Given the description of an element on the screen output the (x, y) to click on. 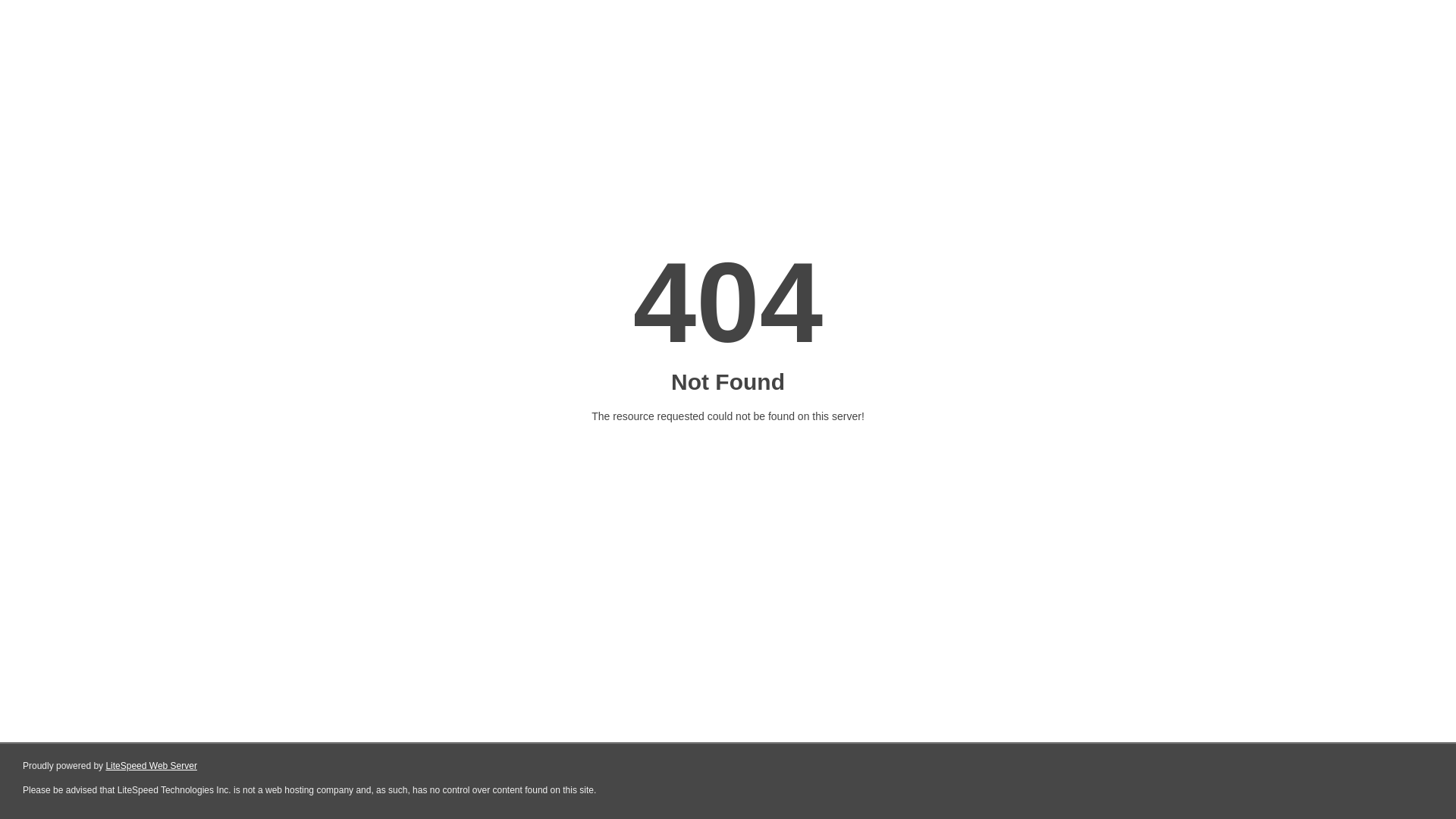
LiteSpeed Web Server Element type: text (151, 765)
